Given the description of an element on the screen output the (x, y) to click on. 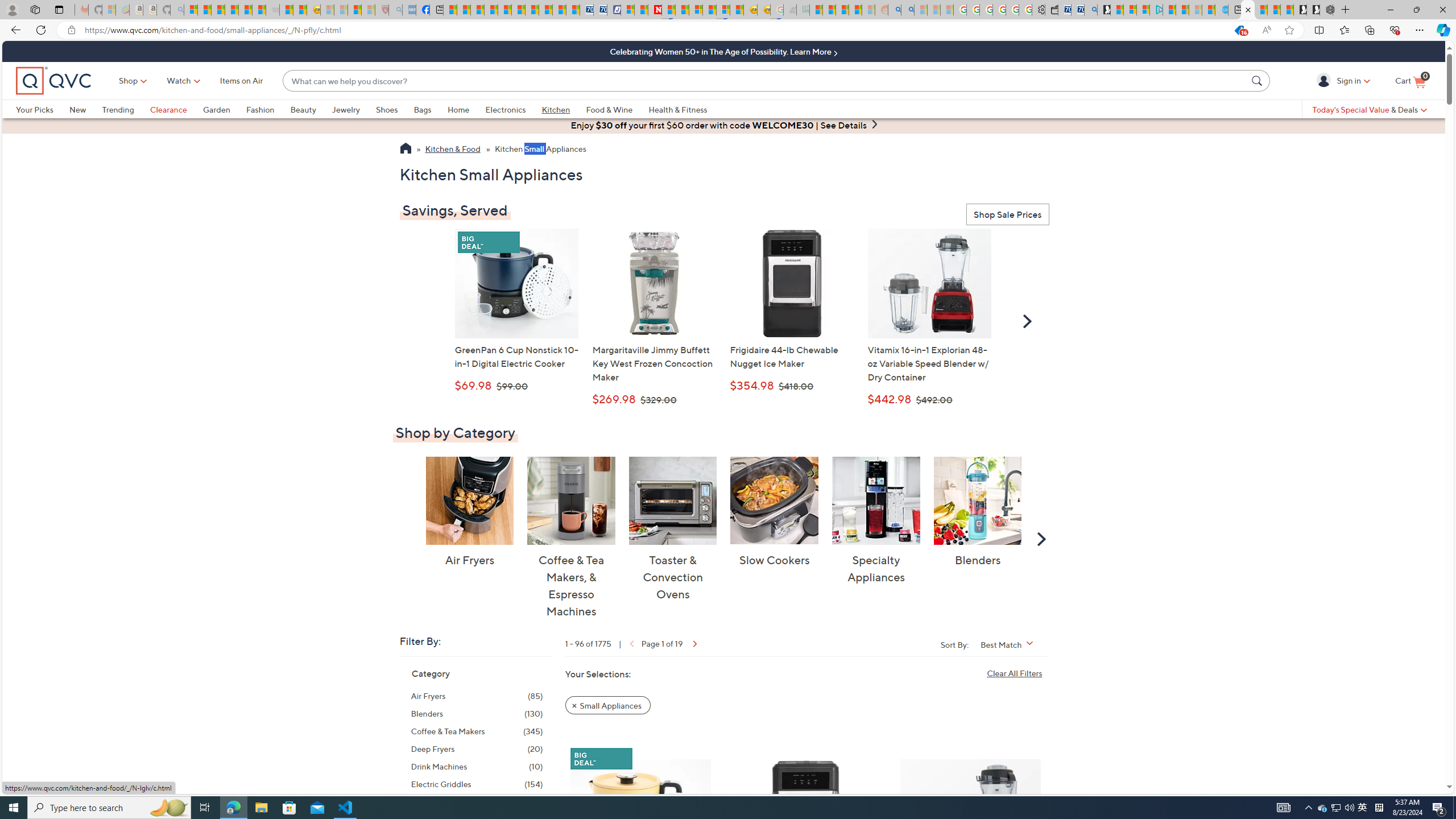
Blenders (977, 500)
New (76, 109)
The Weather Channel - MSN (218, 9)
Search Submit (1258, 80)
Coffee & Tea Makers, 345 items (476, 730)
